Given the description of an element on the screen output the (x, y) to click on. 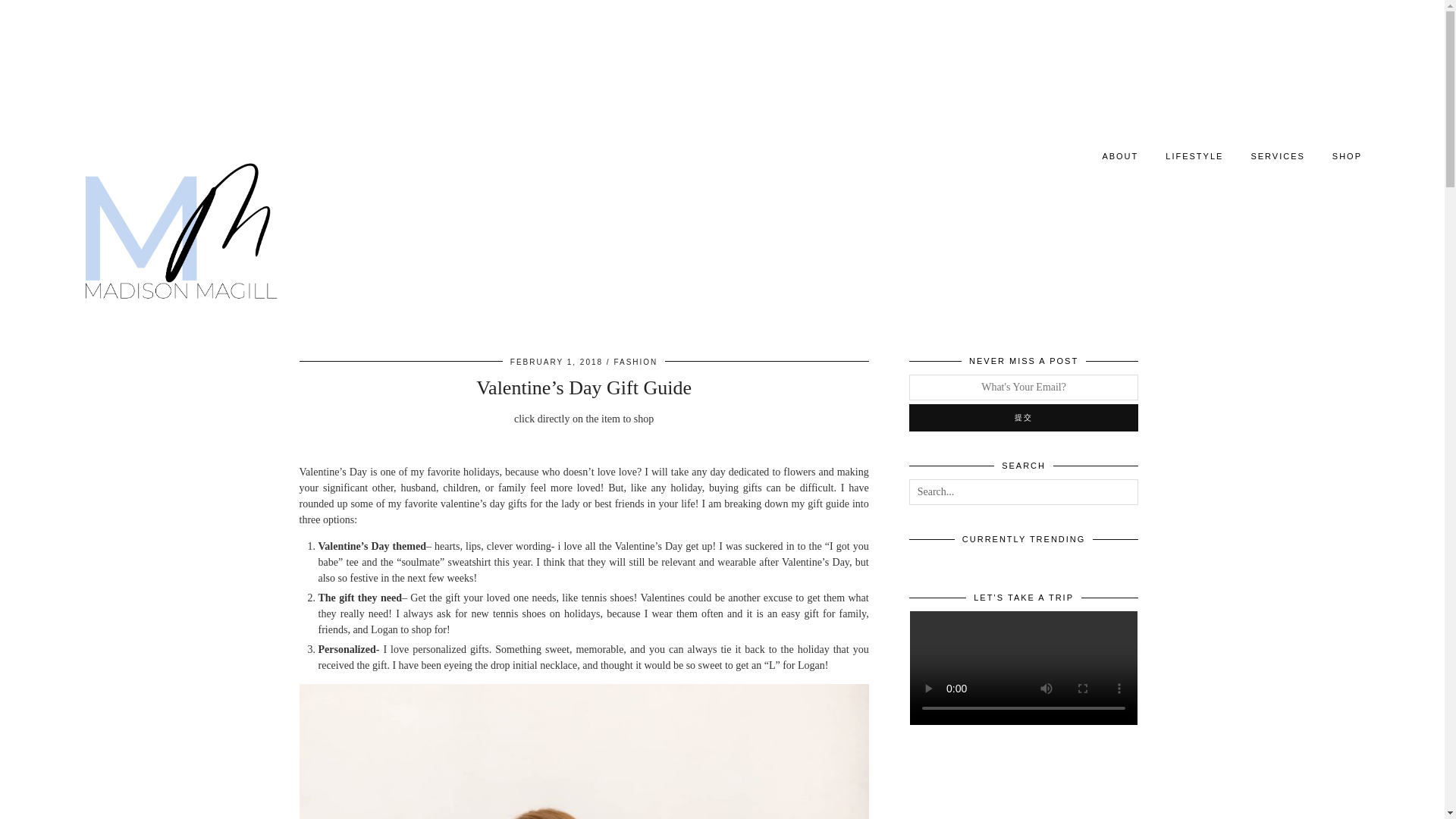
SERVICES (1276, 155)
LIFESTYLE (1193, 155)
SHOP (1347, 155)
Madison Magill (175, 230)
ABOUT (1119, 155)
FASHION (635, 361)
